Given the description of an element on the screen output the (x, y) to click on. 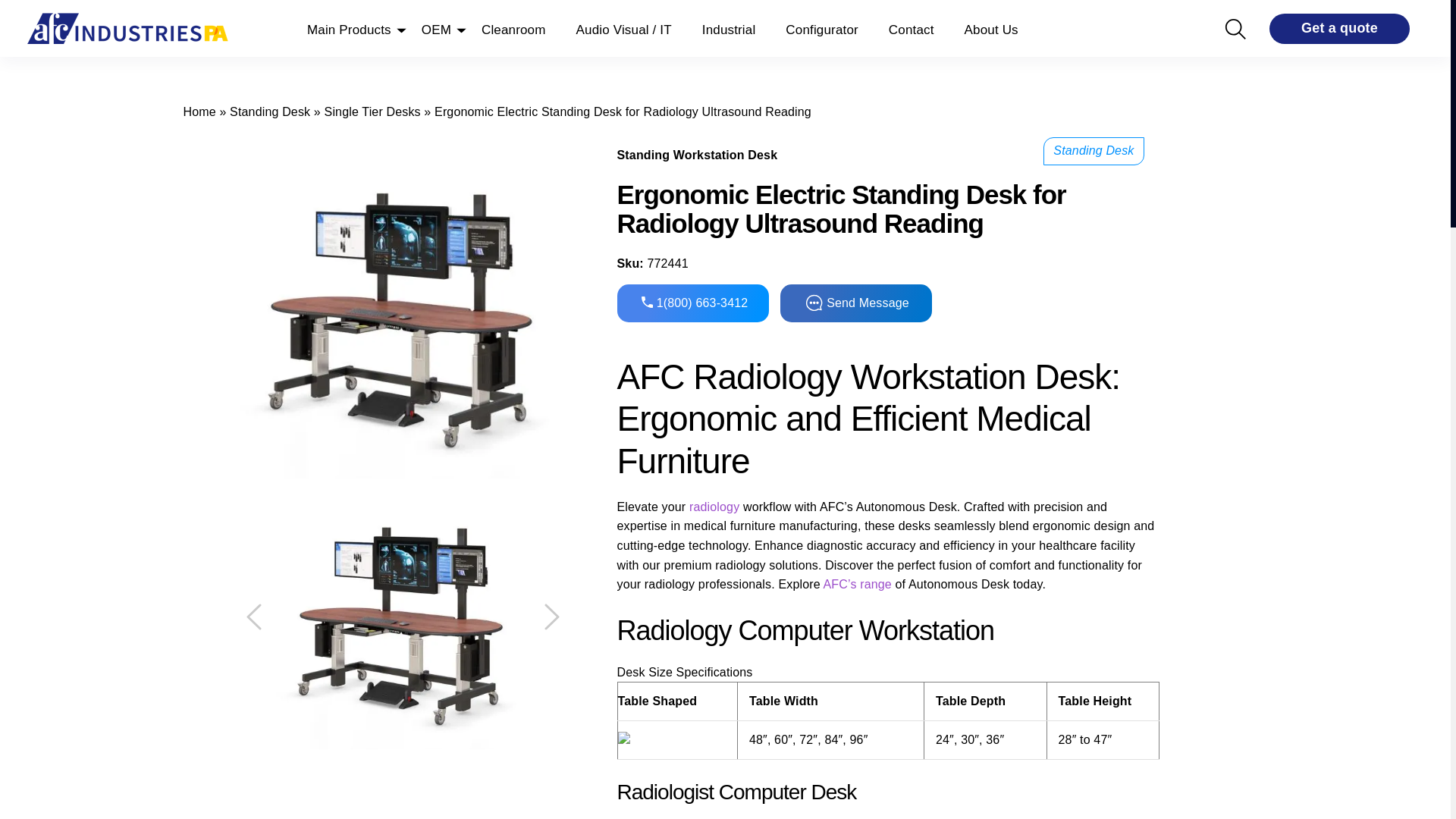
Configurator (821, 28)
Industrial (728, 28)
Cleanroom (513, 28)
radiology (712, 506)
Main Products (349, 28)
About Us (990, 28)
Standing Desk (270, 111)
Single Tier Desks (372, 111)
Home (199, 111)
Send Message (854, 303)
Get a quote (1339, 28)
